Given the description of an element on the screen output the (x, y) to click on. 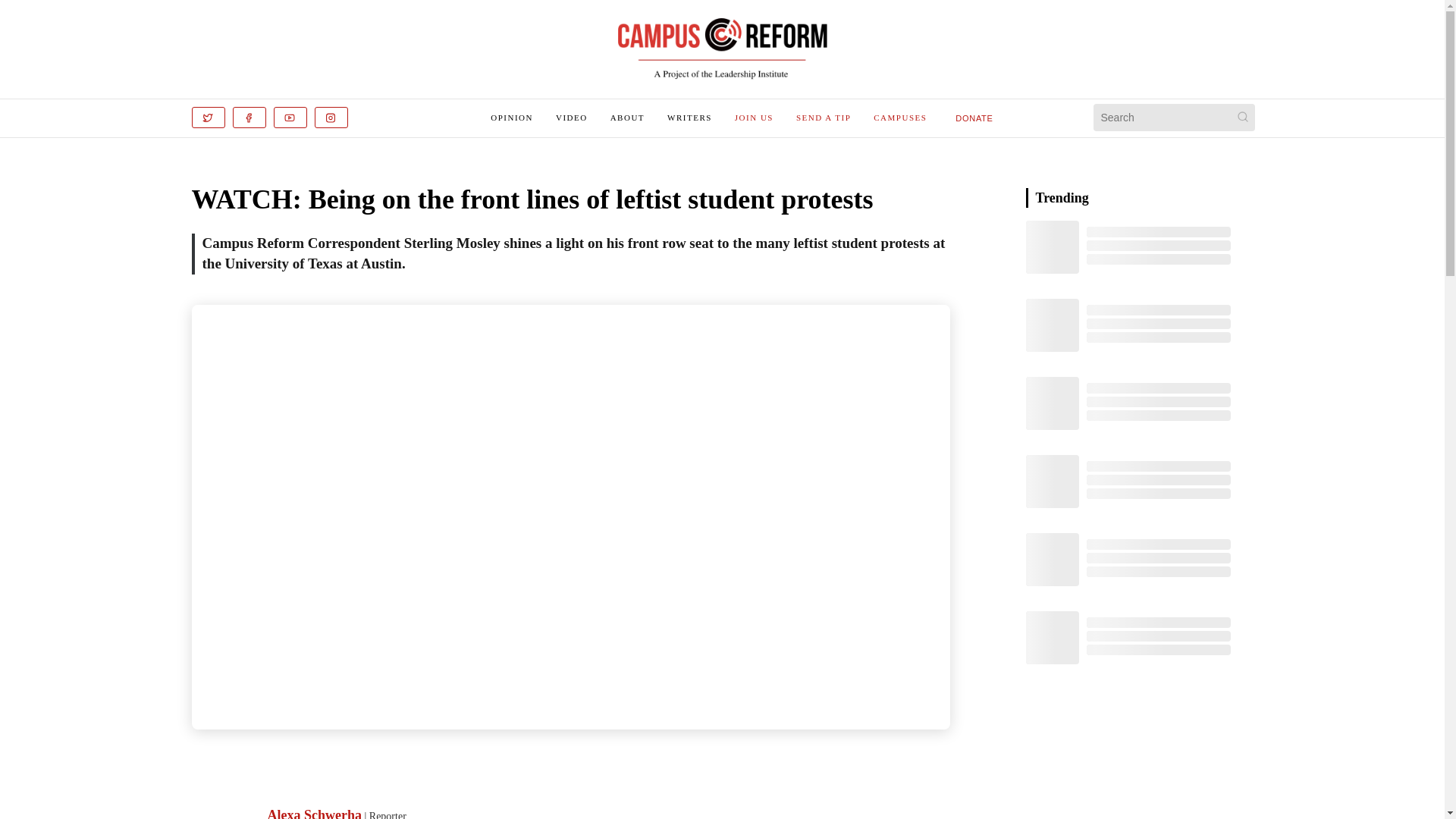
JOIN US (754, 117)
VIDEO (572, 117)
SEND A TIP (823, 117)
DONATE (974, 117)
WRITERS (688, 117)
DONATE (974, 117)
CAMPUSES (899, 117)
OPINION (511, 117)
ABOUT (627, 117)
